Given the description of an element on the screen output the (x, y) to click on. 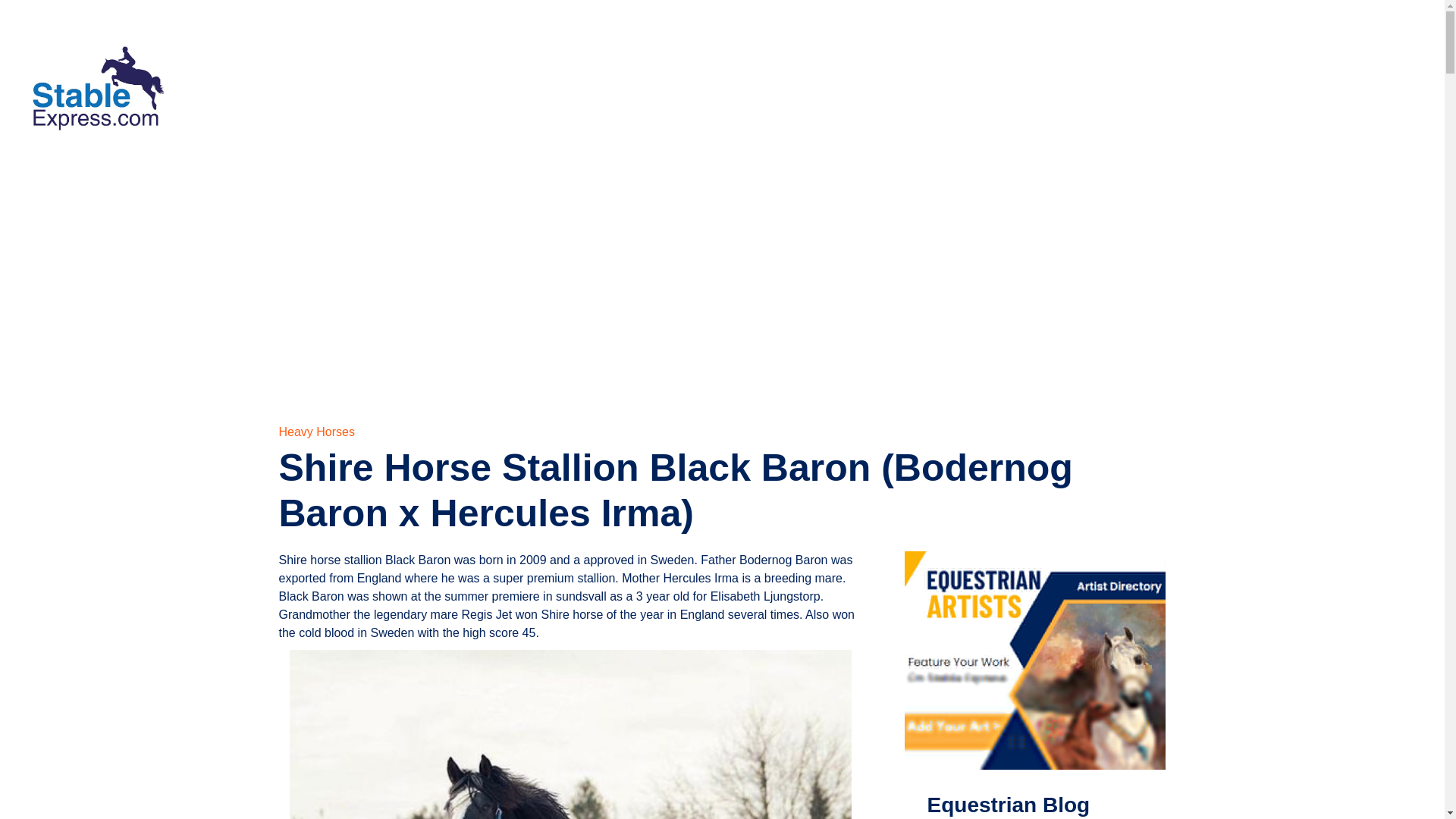
Horse Sports (689, 74)
Equine Classifieds (528, 74)
Web Marketing (797, 142)
Equestrian Directory (856, 74)
